Given the description of an element on the screen output the (x, y) to click on. 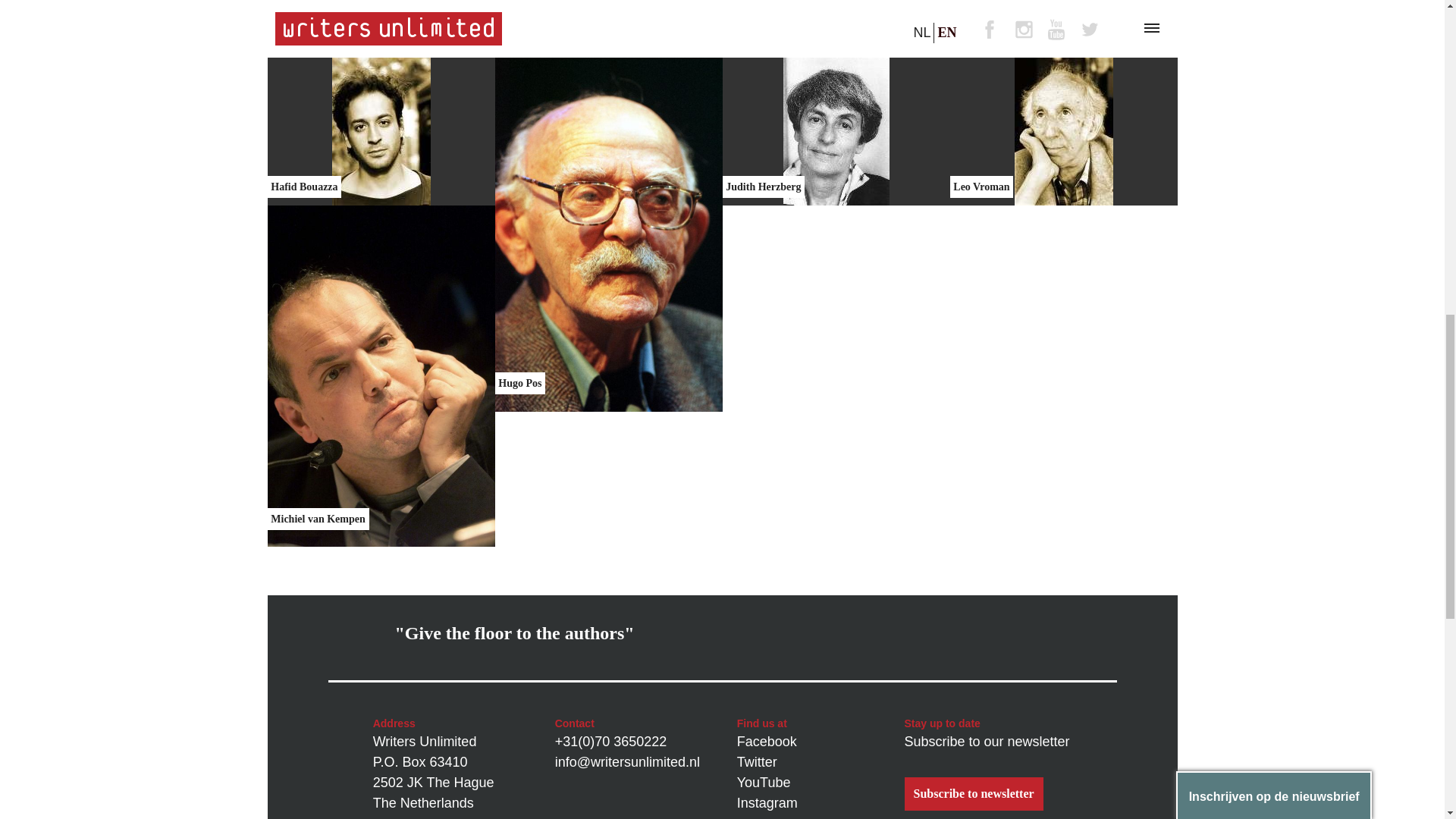
Subscribe to newsletter (973, 793)
Judith Herzberg (835, 129)
Hafid Bouazza (380, 129)
Leo Vroman (1062, 129)
